Given the description of an element on the screen output the (x, y) to click on. 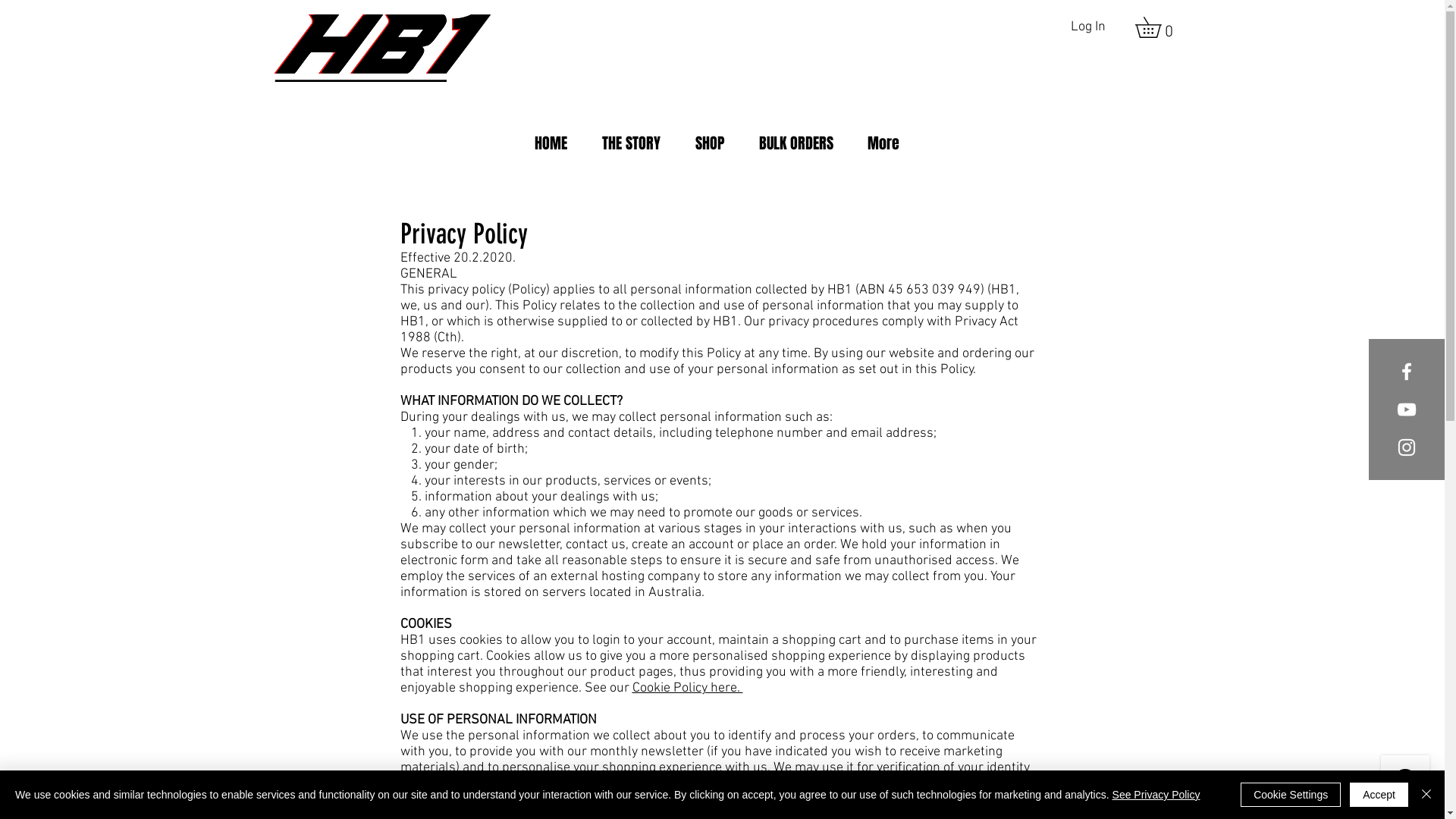
Log In Element type: text (1088, 26)
0 Element type: text (1157, 26)
Cookie Policy here.  Element type: text (687, 688)
SHOP Element type: text (709, 143)
HOME Element type: text (550, 143)
Accept Element type: text (1378, 794)
BULK ORDERS Element type: text (795, 143)
HB1 White background2.png Element type: hover (382, 48)
THE STORY Element type: text (630, 143)
Cookie Settings Element type: text (1290, 794)
See Privacy Policy Element type: text (1156, 794)
